Given the description of an element on the screen output the (x, y) to click on. 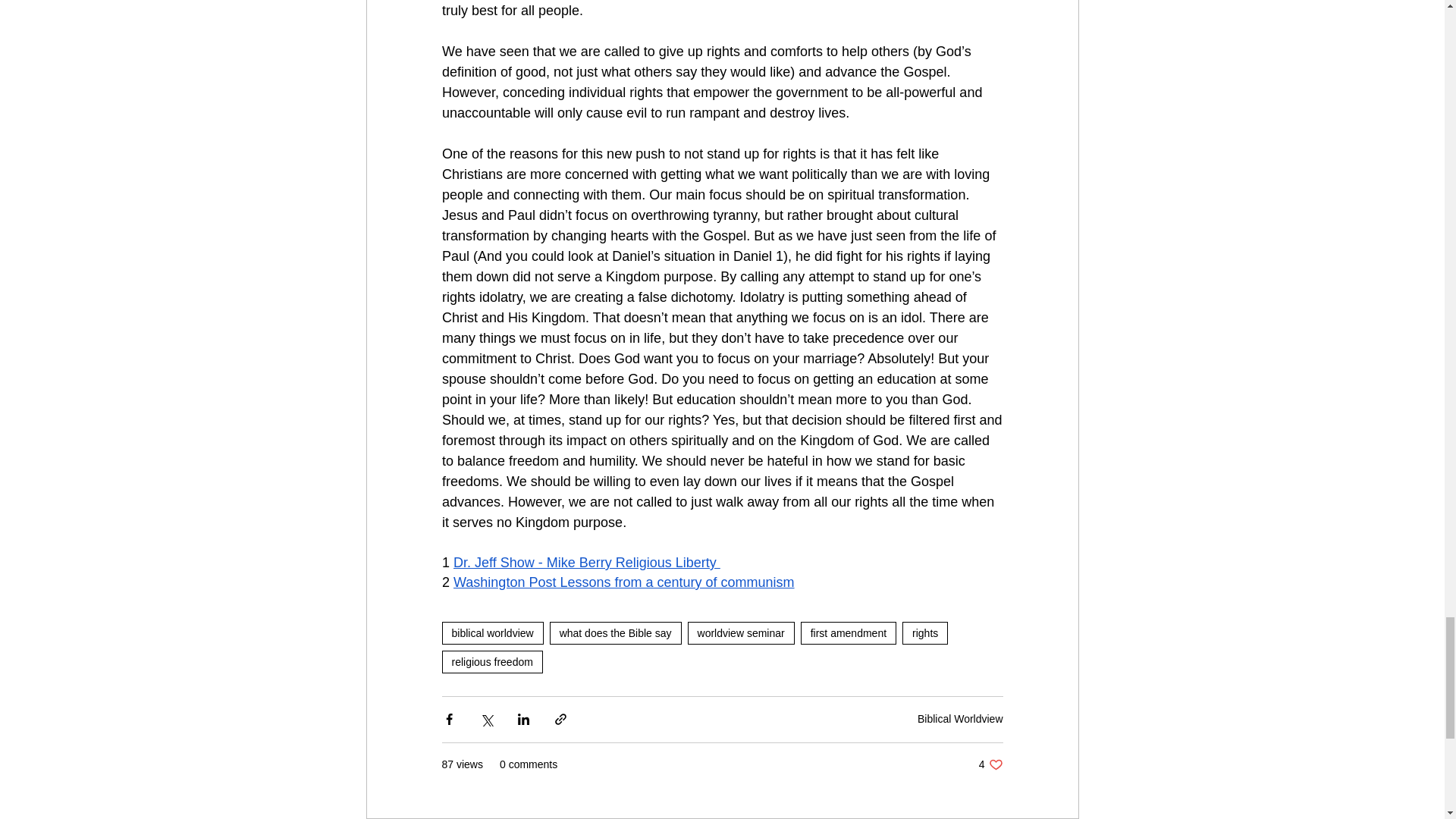
rights (924, 632)
first amendment (848, 632)
biblical worldview (492, 632)
worldview seminar (740, 632)
Washington Post Lessons from a century of communism (623, 581)
religious freedom (990, 764)
what does the Bible say (491, 661)
Dr. Jeff Show - Mike Berry Religious Liberty  (615, 632)
Biblical Worldview (586, 562)
